Given the description of an element on the screen output the (x, y) to click on. 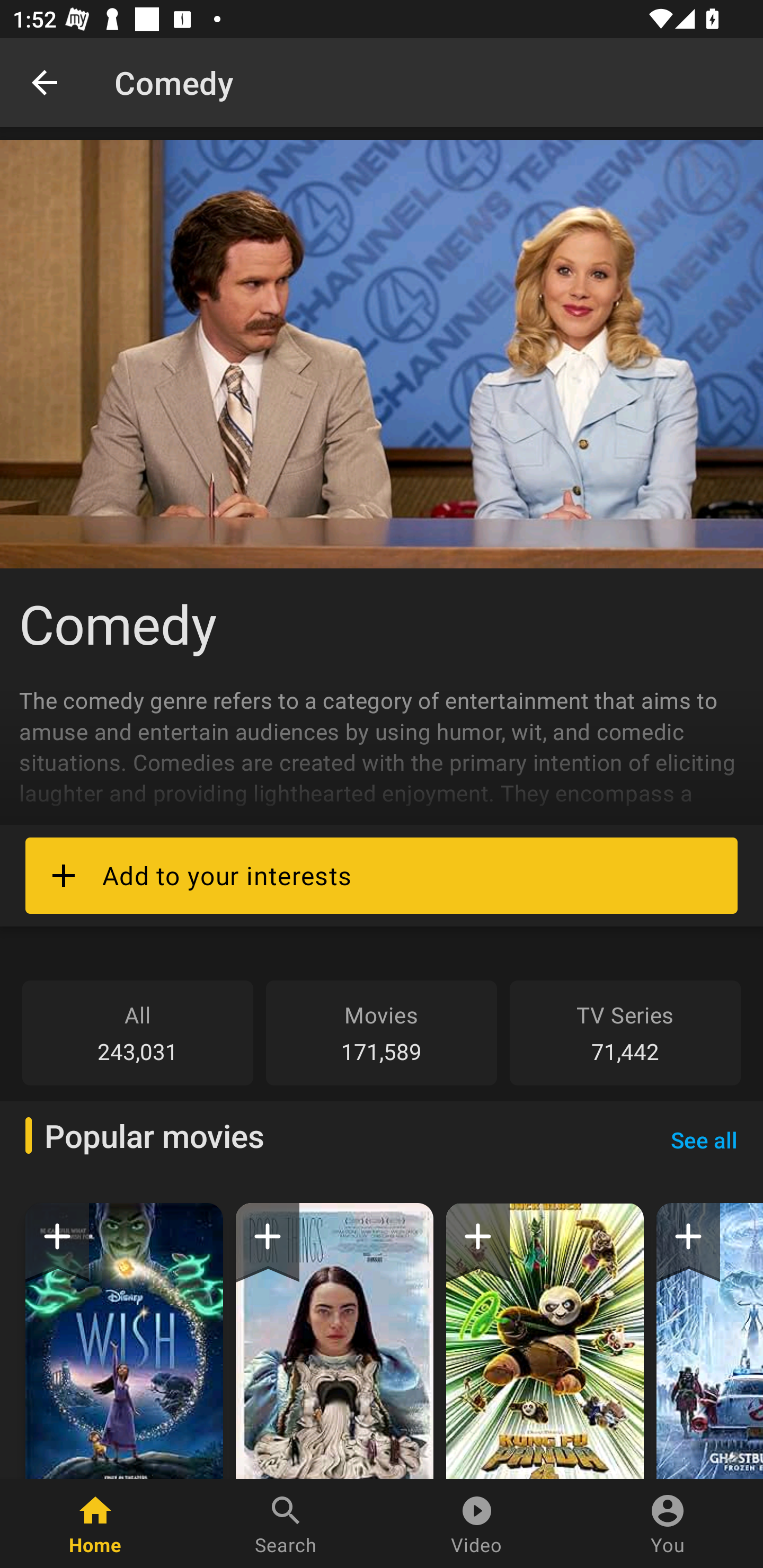
Add to your interests (381, 875)
All 243,031 (137, 1032)
Movies 171,589 (381, 1032)
TV Series 71,442 (624, 1032)
See all See all Popular movies (703, 1139)
Search (285, 1523)
Video (476, 1523)
You (667, 1523)
